Given the description of an element on the screen output the (x, y) to click on. 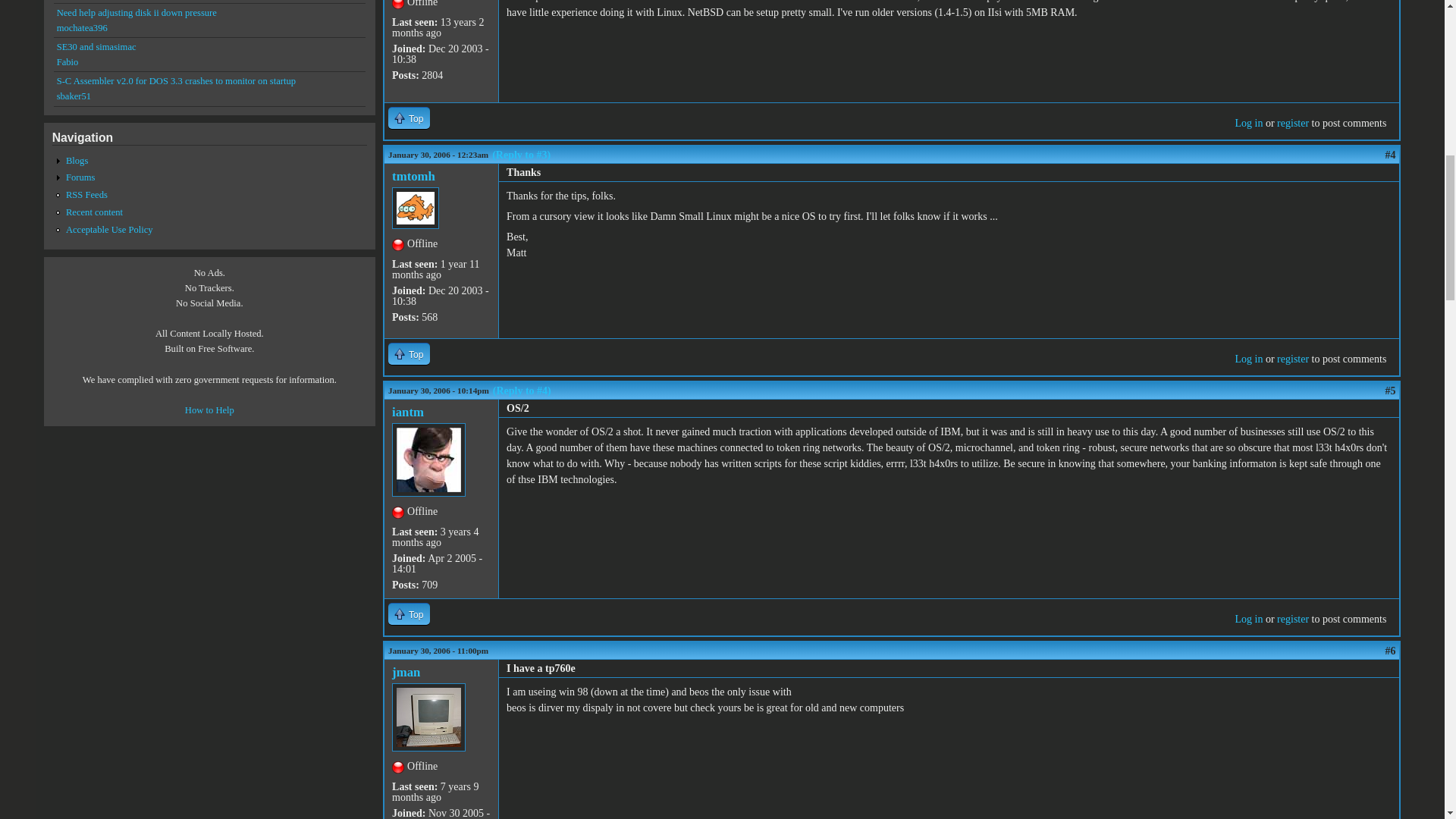
tmtomh (413, 175)
Log in (1248, 122)
iantm's picture (428, 459)
Jump to top of page (408, 117)
View user profile. (407, 411)
Jump to top of page (408, 353)
Top (408, 117)
Log in (1248, 358)
jman's picture (428, 717)
View user profile. (413, 175)
Top (408, 353)
Jump to top of page (408, 613)
tmtomh's picture (415, 208)
View user profile. (405, 672)
register (1292, 122)
